Given the description of an element on the screen output the (x, y) to click on. 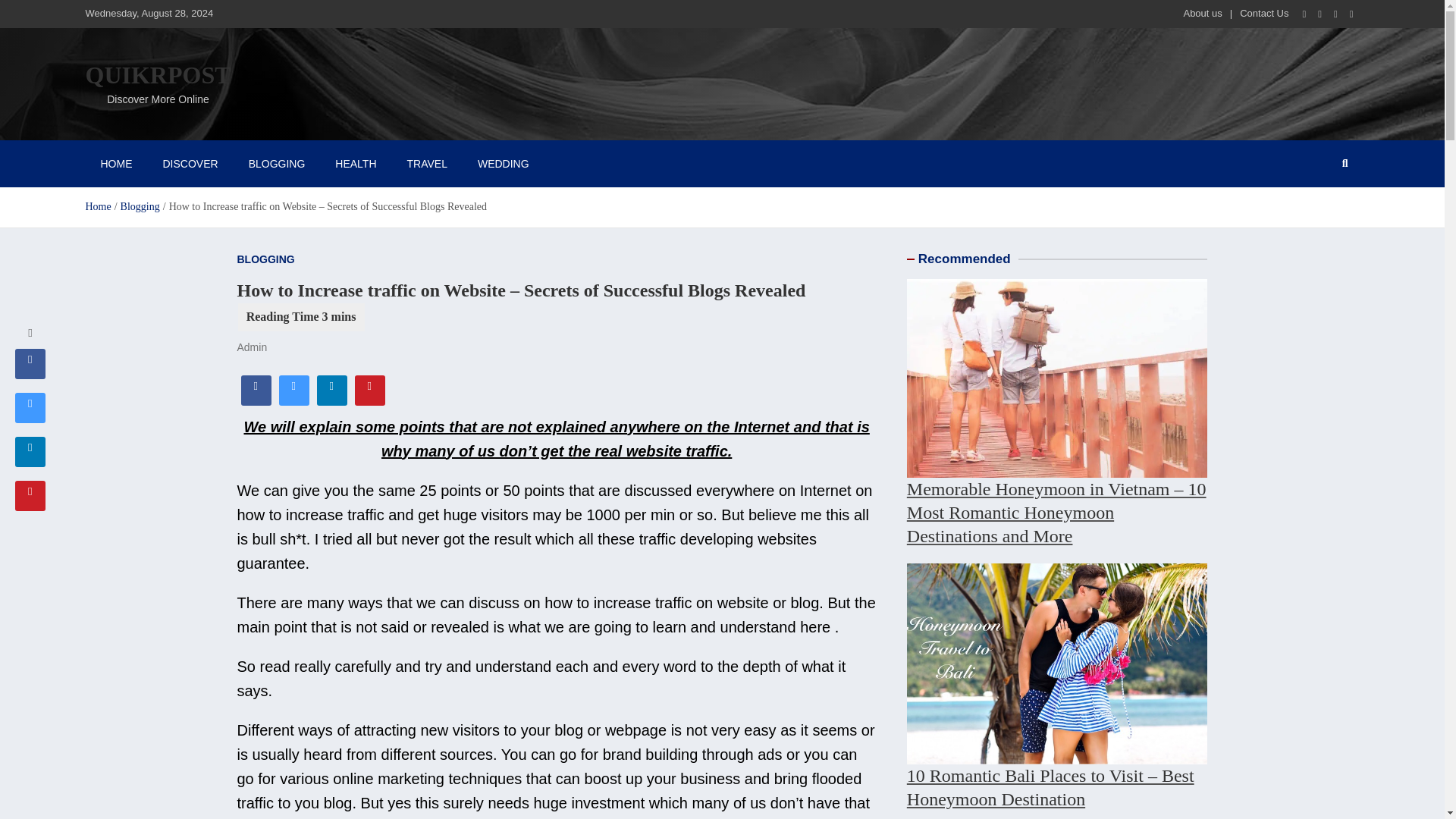
Admin (250, 346)
Blogging (140, 206)
BLOGGING (276, 163)
DISCOVER (189, 163)
Share to LinkedIn (332, 400)
Discover Something new (189, 163)
HEALTH (355, 163)
TRAVEL (427, 163)
BLOGGING (264, 258)
Blogging and SEO Tips (276, 163)
